Given the description of an element on the screen output the (x, y) to click on. 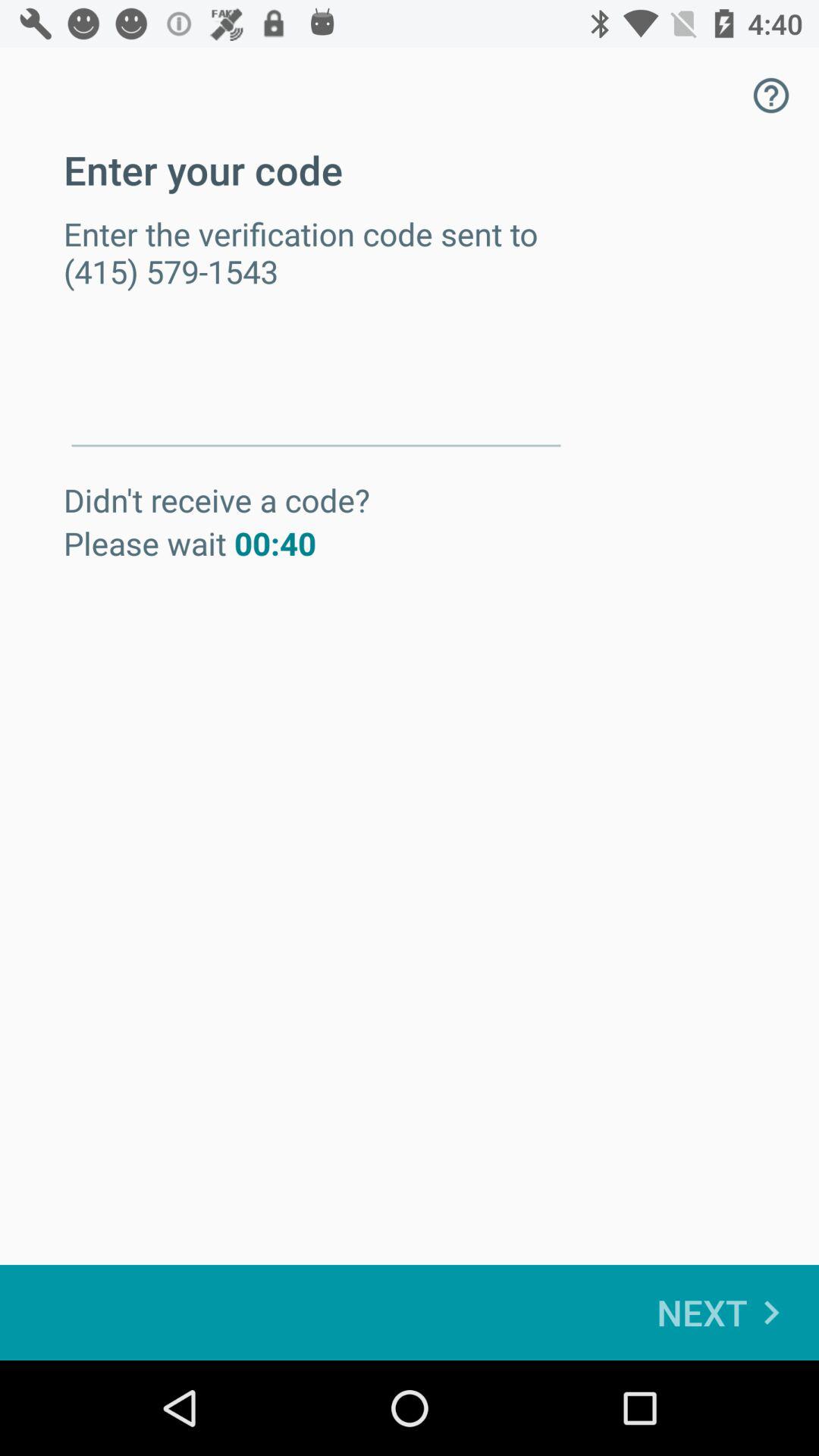
tap next at the bottom right corner (726, 1312)
